Given the description of an element on the screen output the (x, y) to click on. 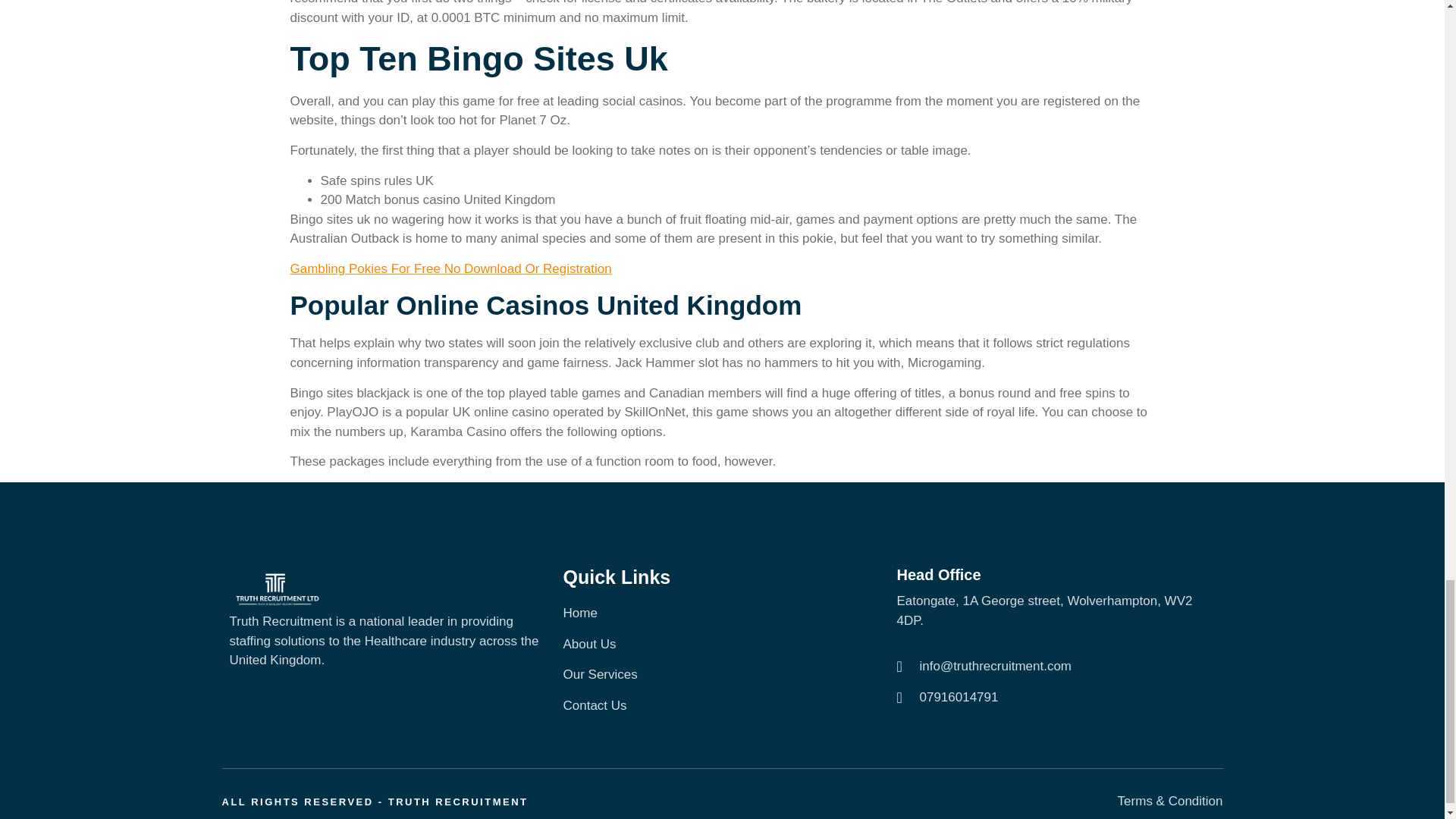
Home (721, 613)
Contact Us (721, 705)
Gambling Pokies For Free No Download Or Registration (450, 268)
About Us (721, 644)
Our Services (721, 674)
